Given the description of an element on the screen output the (x, y) to click on. 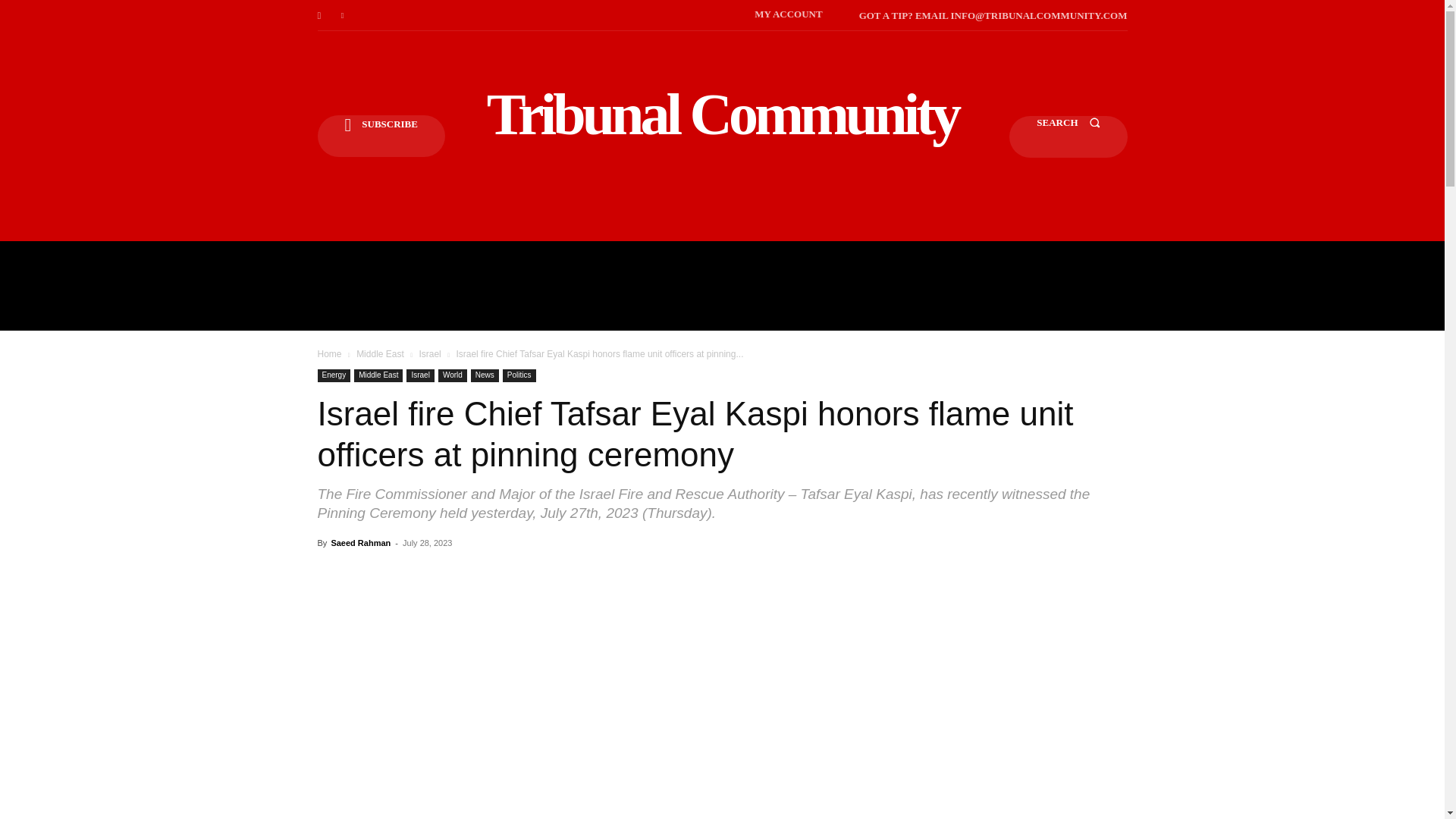
View all posts in Middle East (380, 353)
Twitter (342, 15)
Facebook (318, 15)
View all posts in Israel (430, 353)
SUBSCRIBE (380, 136)
Tribunal Community (722, 113)
